Given the description of an element on the screen output the (x, y) to click on. 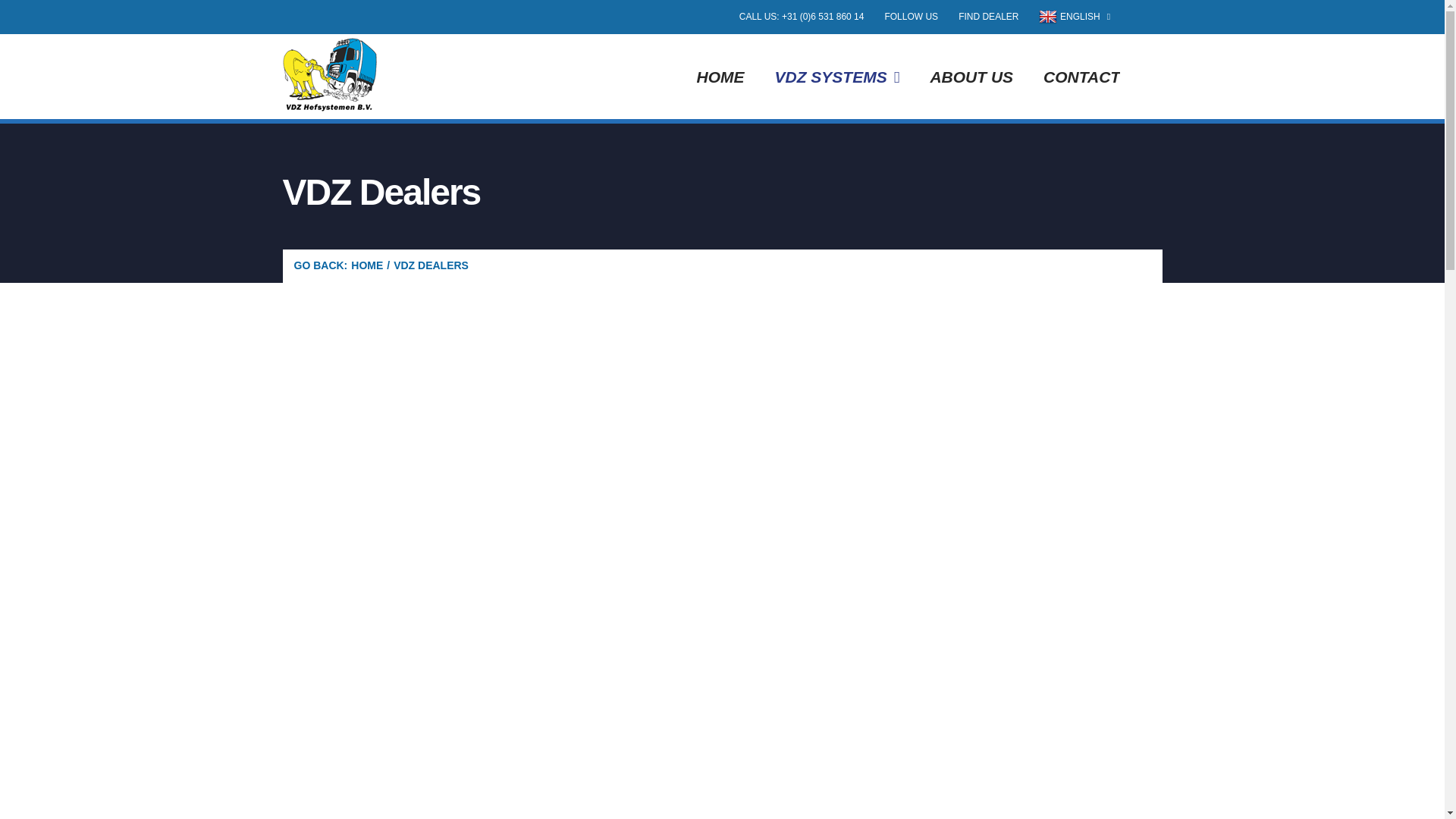
ENGLISH (1074, 16)
ABOUT US (971, 76)
Phone VDZ Systems (802, 16)
Follow VDZ Systems on Facebook (911, 16)
HOME (366, 265)
Contact Us (1081, 76)
VDZ SYSTEMS (836, 76)
About Us (971, 76)
France (616, 544)
FOLLOW US (911, 16)
